Given the description of an element on the screen output the (x, y) to click on. 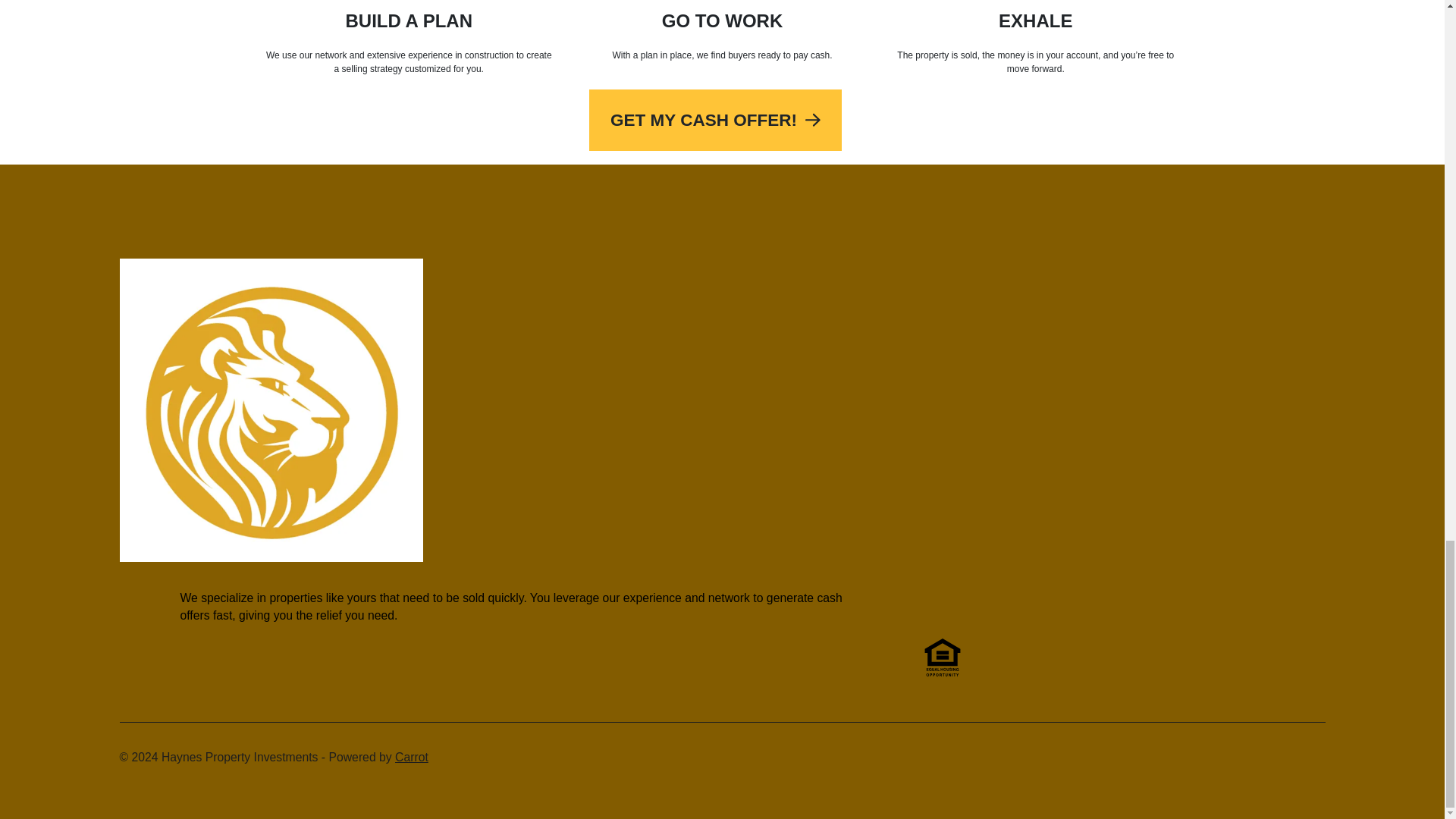
GET MY CASH OFFER! (715, 119)
Carrot (411, 757)
